Given the description of an element on the screen output the (x, y) to click on. 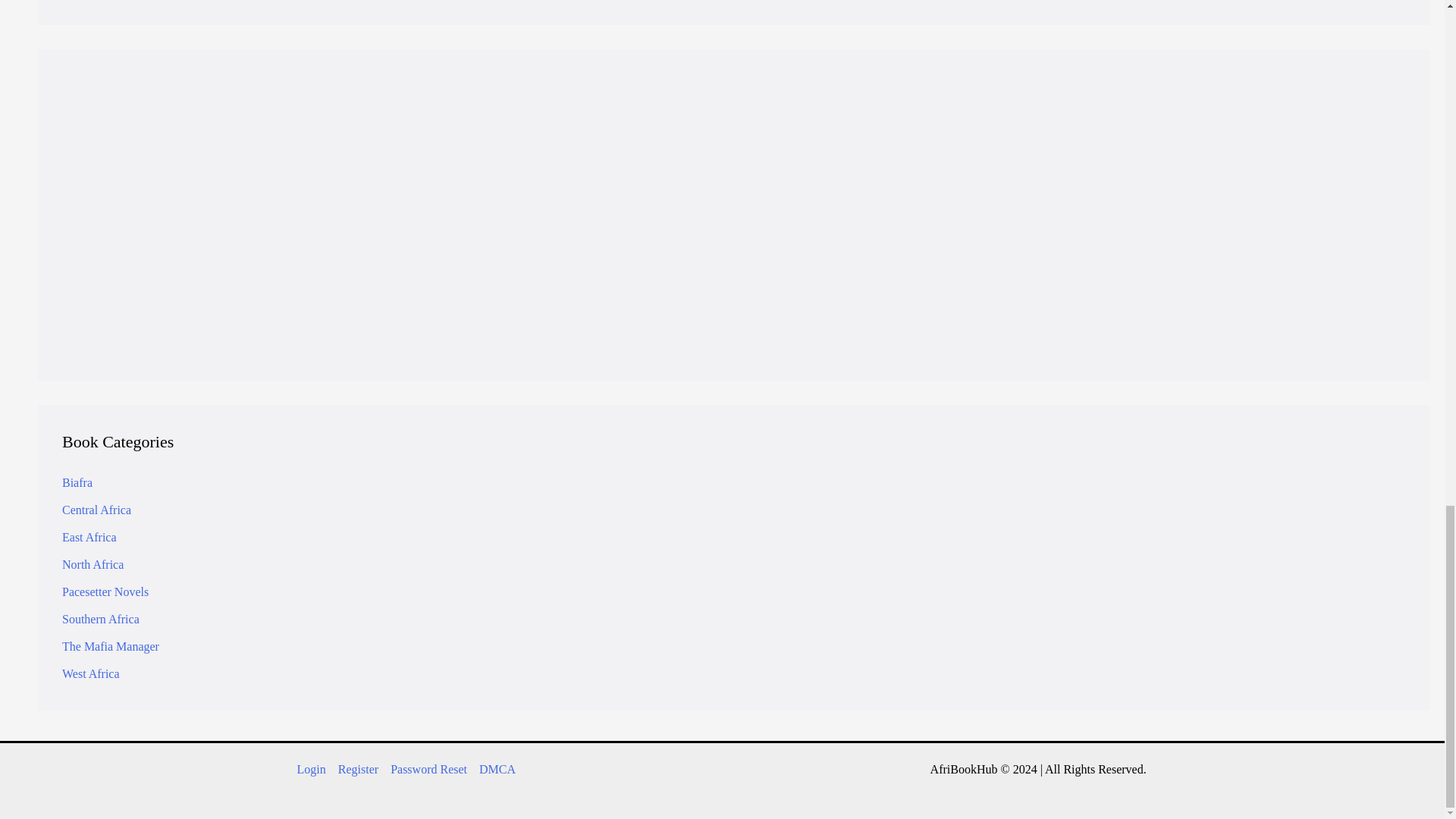
West Africa (90, 673)
Pacesetter Novels (105, 591)
Biafra (77, 481)
East Africa (89, 536)
Login (314, 769)
Login (644, 279)
Register (357, 769)
Central Africa (96, 509)
North Africa (92, 563)
Password Reset (428, 769)
Southern Africa (100, 618)
The Mafia Manager (110, 645)
DMCA (494, 769)
